Given the description of an element on the screen output the (x, y) to click on. 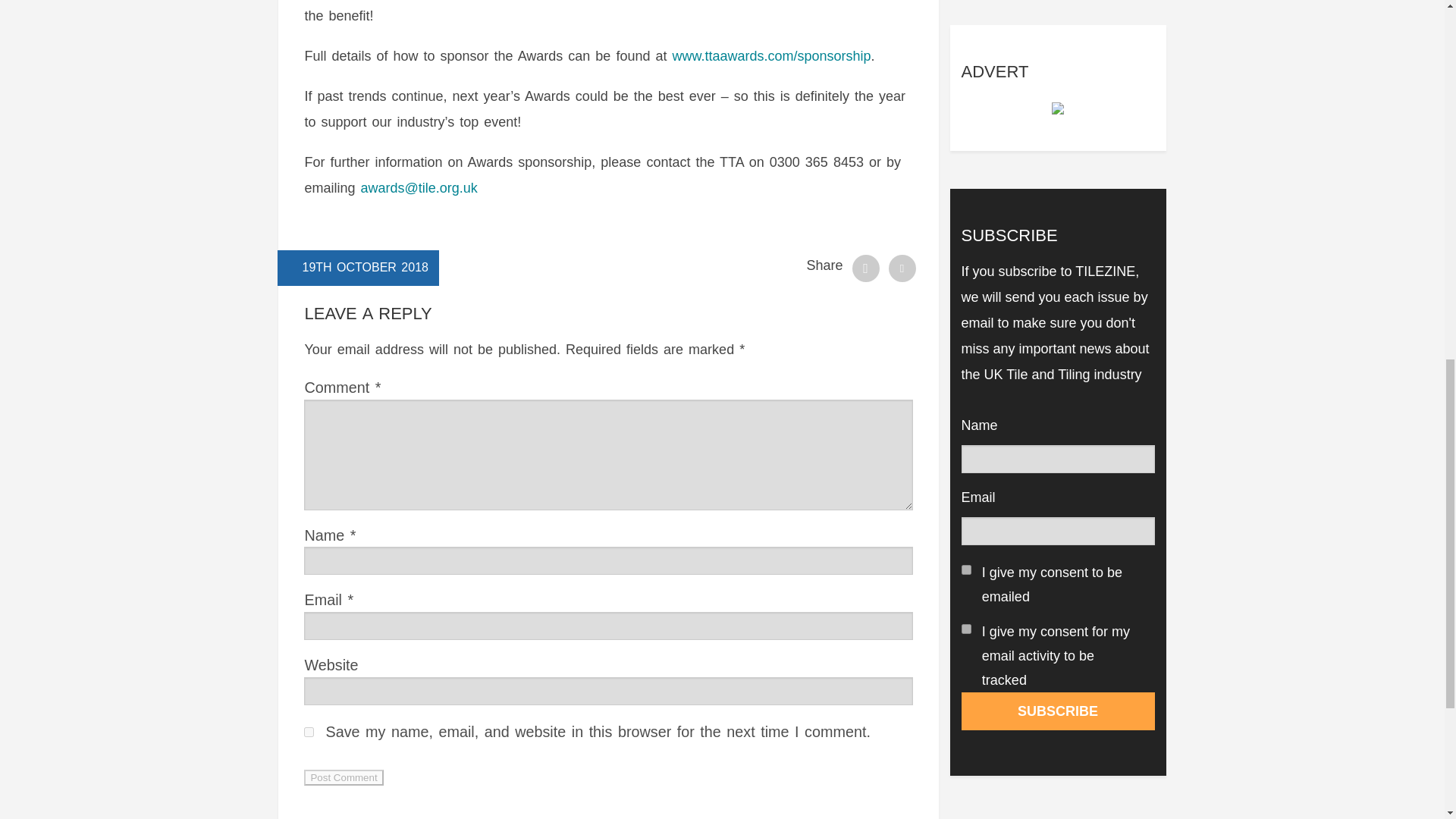
Post Comment (343, 777)
on (965, 628)
on (965, 569)
yes (309, 732)
19TH OCTOBER 2018 (364, 267)
Post Comment (343, 777)
